Given the description of an element on the screen output the (x, y) to click on. 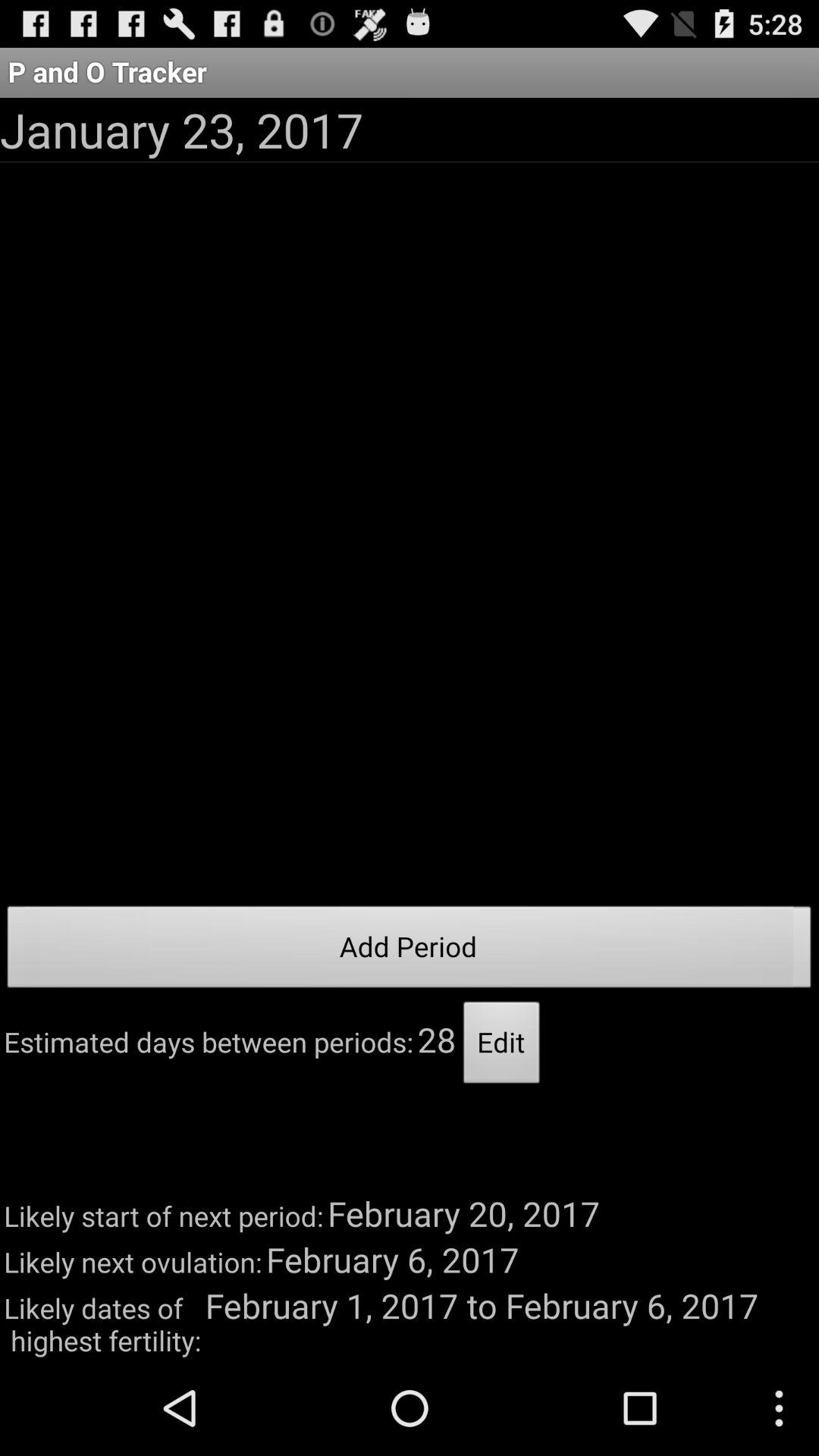
swipe to add period (409, 951)
